Given the description of an element on the screen output the (x, y) to click on. 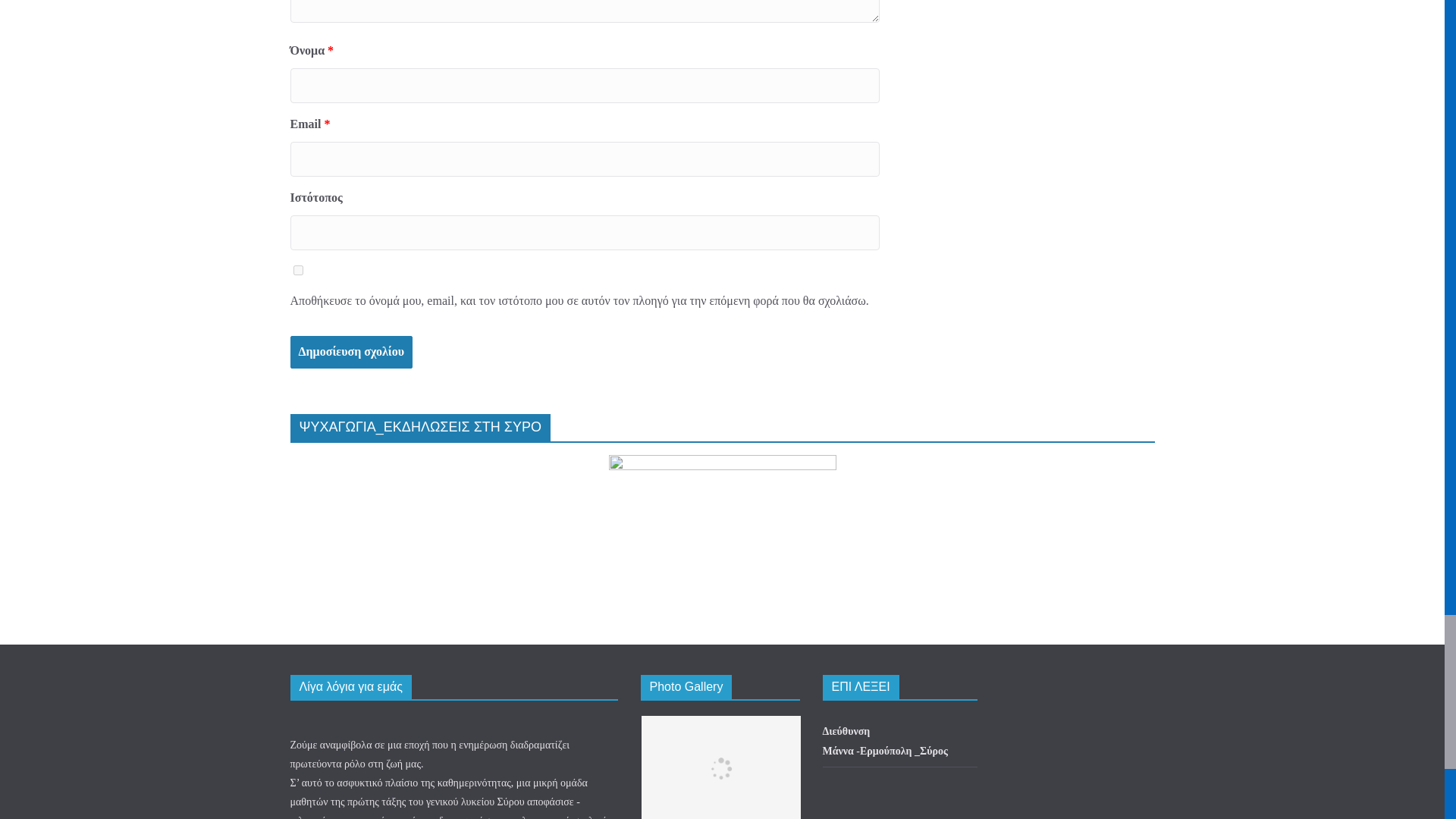
yes (297, 270)
